Given the description of an element on the screen output the (x, y) to click on. 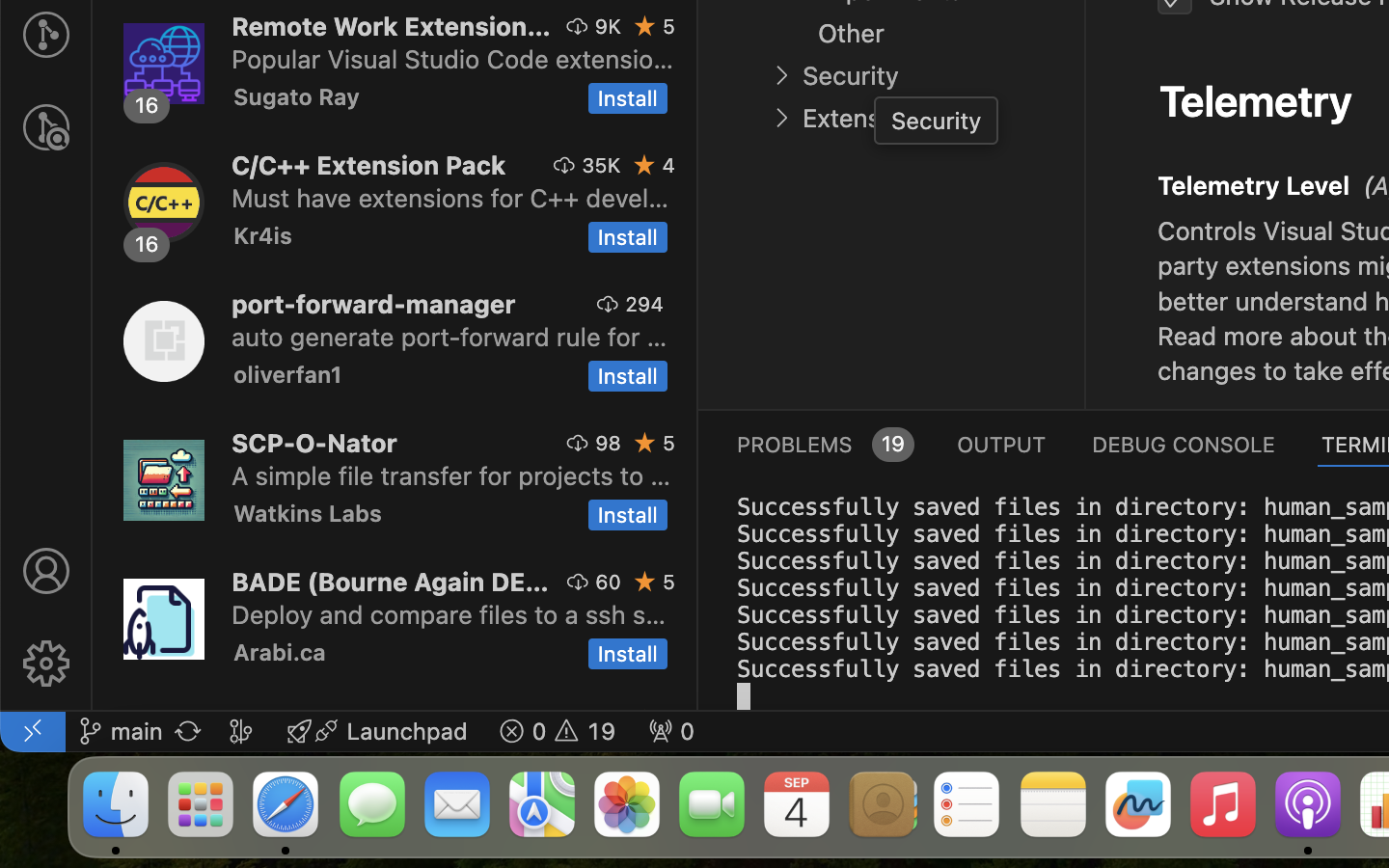
35K Element type: AXStaticText (601, 164)
294 Element type: AXStaticText (644, 303)
19  0  Element type: AXButton (557, 730)
Must have extensions for C++ development in Visual Studio Code. Element type: AXStaticText (450, 197)
BADE (Bourne Again DEploy) Element type: AXStaticText (390, 581)
